Given the description of an element on the screen output the (x, y) to click on. 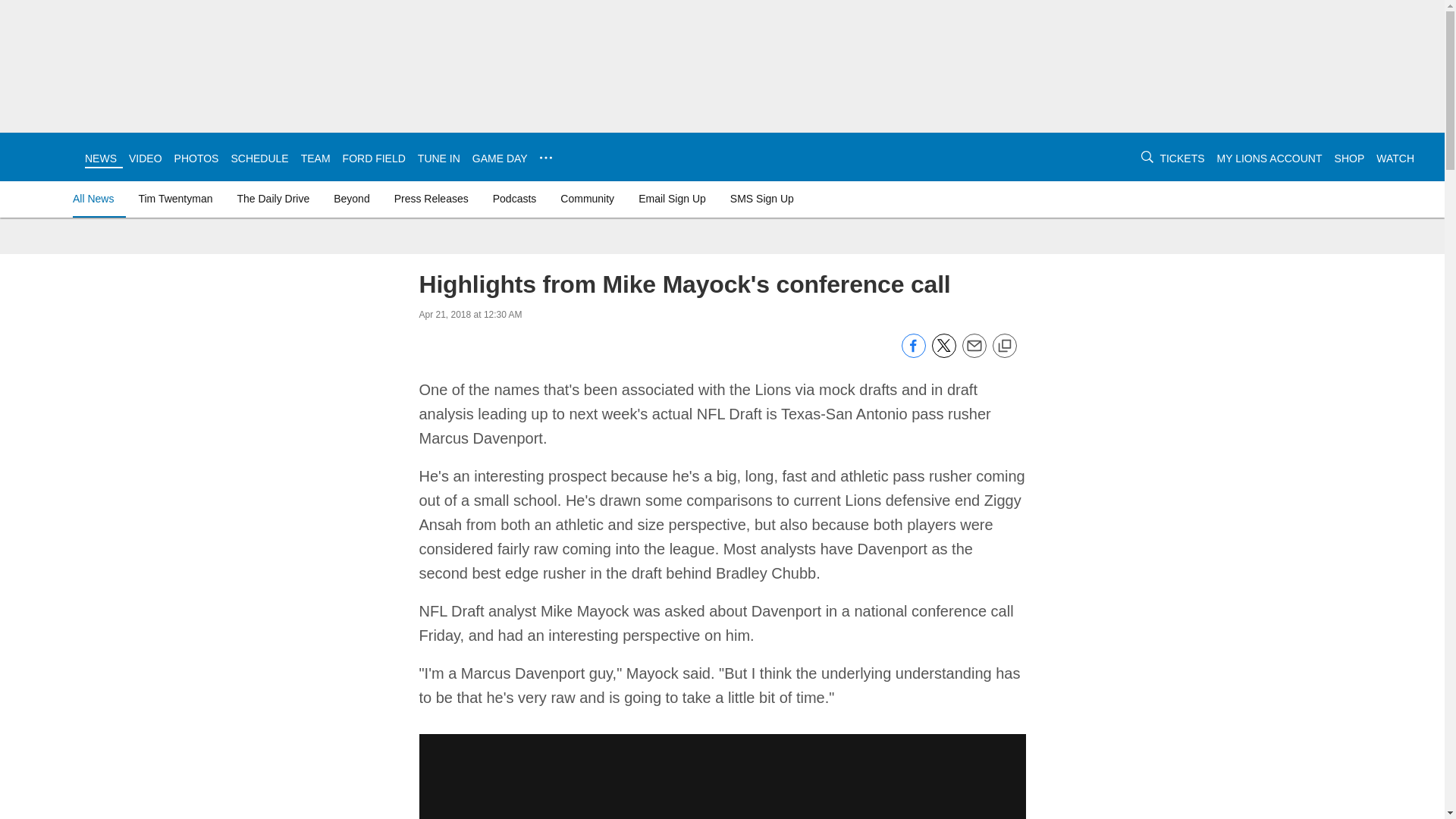
TEAM (315, 158)
GAME DAY (499, 158)
SHOP (1350, 158)
NEWS (100, 158)
FORD FIELD (374, 158)
Press Releases (431, 198)
Email Sign Up (671, 198)
MY LIONS ACCOUNT (1269, 158)
... (545, 157)
Beyond (351, 198)
